Given the description of an element on the screen output the (x, y) to click on. 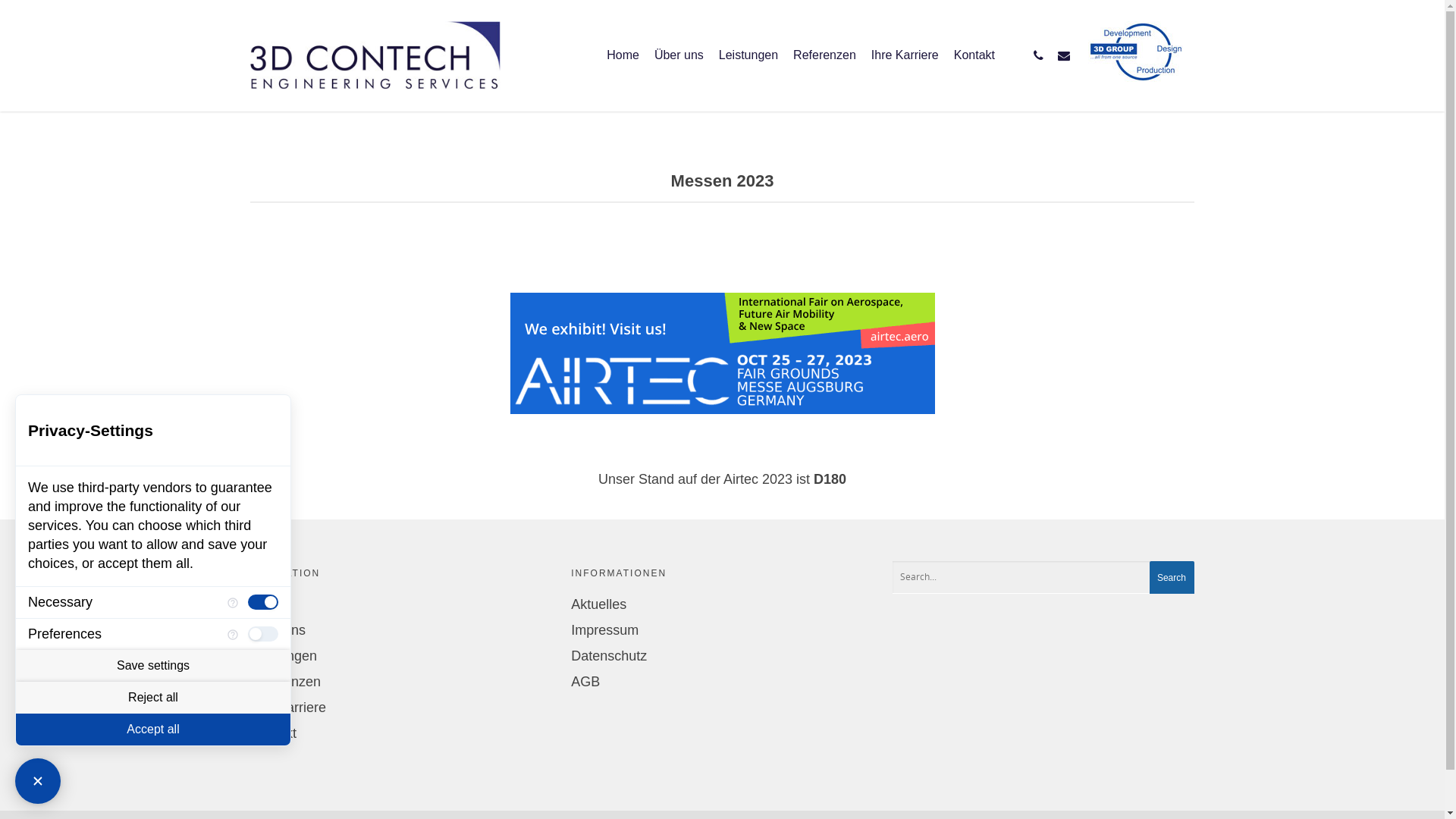
Ihre Karriere Element type: text (904, 65)
Impressum Element type: text (721, 630)
Referenzen Element type: text (824, 65)
Home Element type: text (401, 604)
Ihre Karriere Element type: text (401, 707)
Referenzen Element type: text (401, 681)
Home Element type: text (622, 65)
Save settings Element type: text (152, 665)
Kontakt Element type: text (973, 65)
Aktuelles Element type: text (721, 604)
Datenschutz Element type: text (721, 655)
Leistungen Element type: text (748, 65)
Accept all Element type: text (152, 729)
Search for: Element type: hover (1043, 577)
Kontakt Element type: text (401, 733)
AGB Element type: text (721, 681)
Reject all Element type: text (152, 697)
Leistungen Element type: text (401, 655)
Search Element type: text (1171, 578)
